Given the description of an element on the screen output the (x, y) to click on. 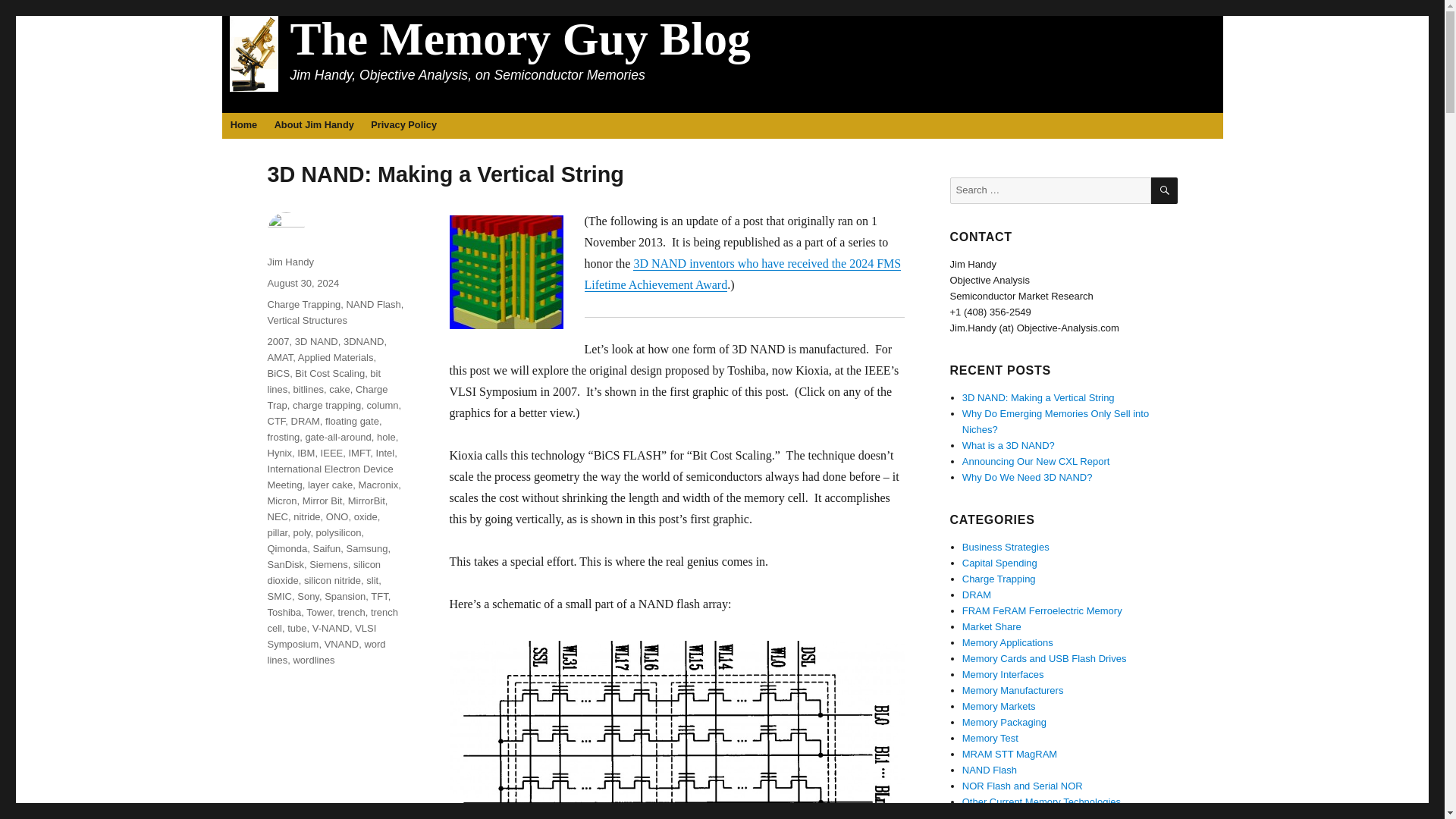
3D NAND Team to Receive FMS Lifetime Achievement Award (742, 274)
The Memory Guy Blog (519, 39)
AMAT (279, 357)
About Jim Handy (313, 125)
Home (242, 125)
NAND Flash Array Circuit Diagram from US Patent 7,193,897 (676, 729)
BiCS (277, 373)
Privacy Policy (403, 125)
3DNAND (363, 341)
3D NAND (316, 341)
